Given the description of an element on the screen output the (x, y) to click on. 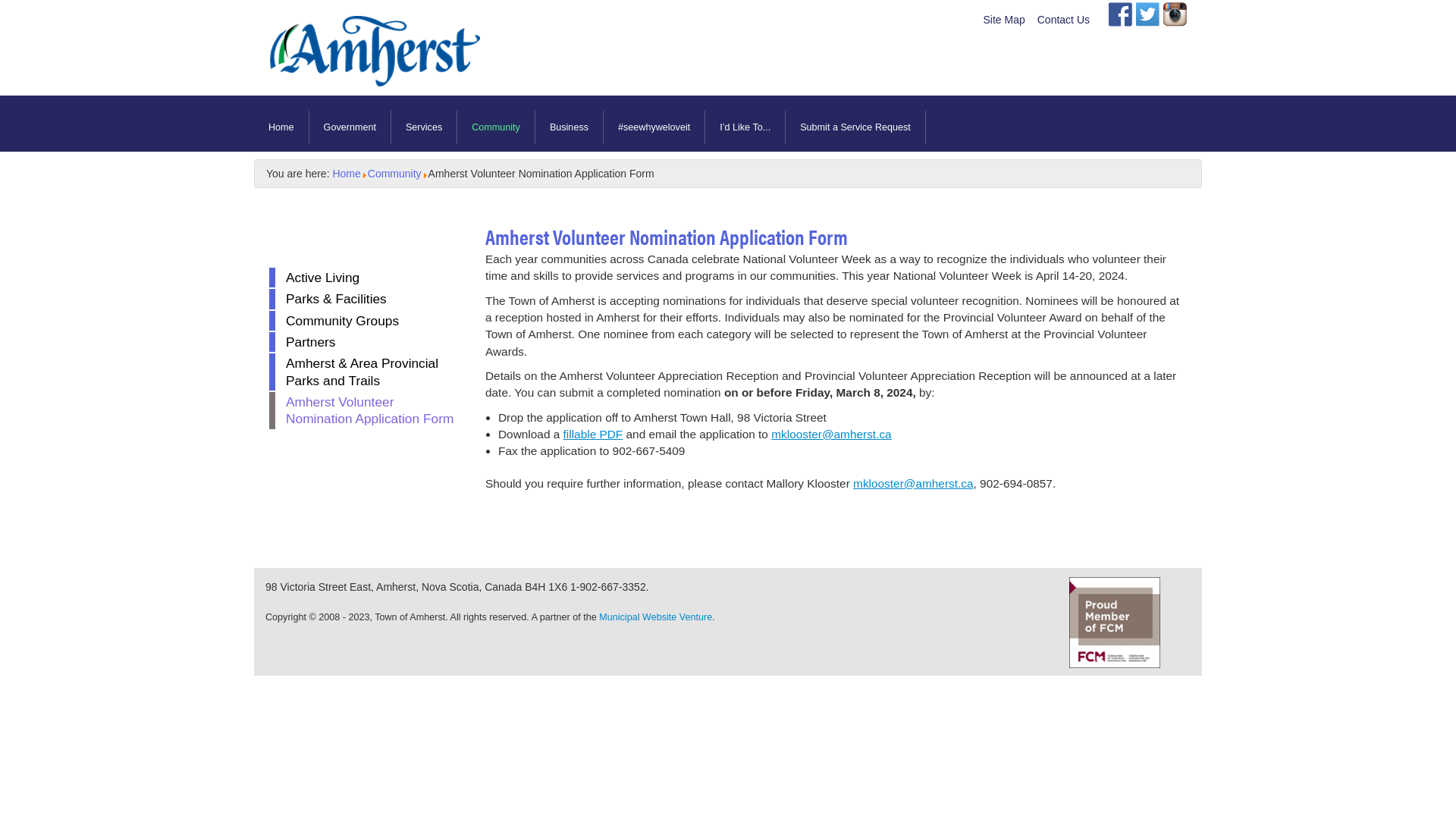
Home Element type: text (281, 127)
Parks & Facilities Element type: text (365, 298)
Government Element type: text (350, 127)
Services Element type: text (424, 127)
Submit a Service Request Element type: text (855, 127)
Community Groups Element type: text (365, 320)
Home Element type: text (346, 173)
Active Living Element type: text (365, 277)
mklooster@amherst.ca Element type: text (831, 433)
Business Element type: text (569, 127)
fillable PDF Element type: text (593, 433)
Site Map Element type: text (1003, 19)
Contact Us Element type: text (1063, 19)
facebook Element type: text (1120, 14)
Amherst Volunteer Nomination Application Form Element type: text (365, 410)
Town of Amherst Element type: text (371, 65)
Community Element type: text (496, 127)
instagram Element type: text (1174, 14)
#seewhyweloveit Element type: text (654, 127)
Municipal Website Venture Element type: text (655, 616)
Amherst & Area Provincial Parks and Trails Element type: text (365, 371)
Community Element type: text (394, 173)
mklooster@amherst.ca Element type: text (912, 482)
twitter Element type: text (1147, 14)
Partners Element type: text (365, 341)
